Given the description of an element on the screen output the (x, y) to click on. 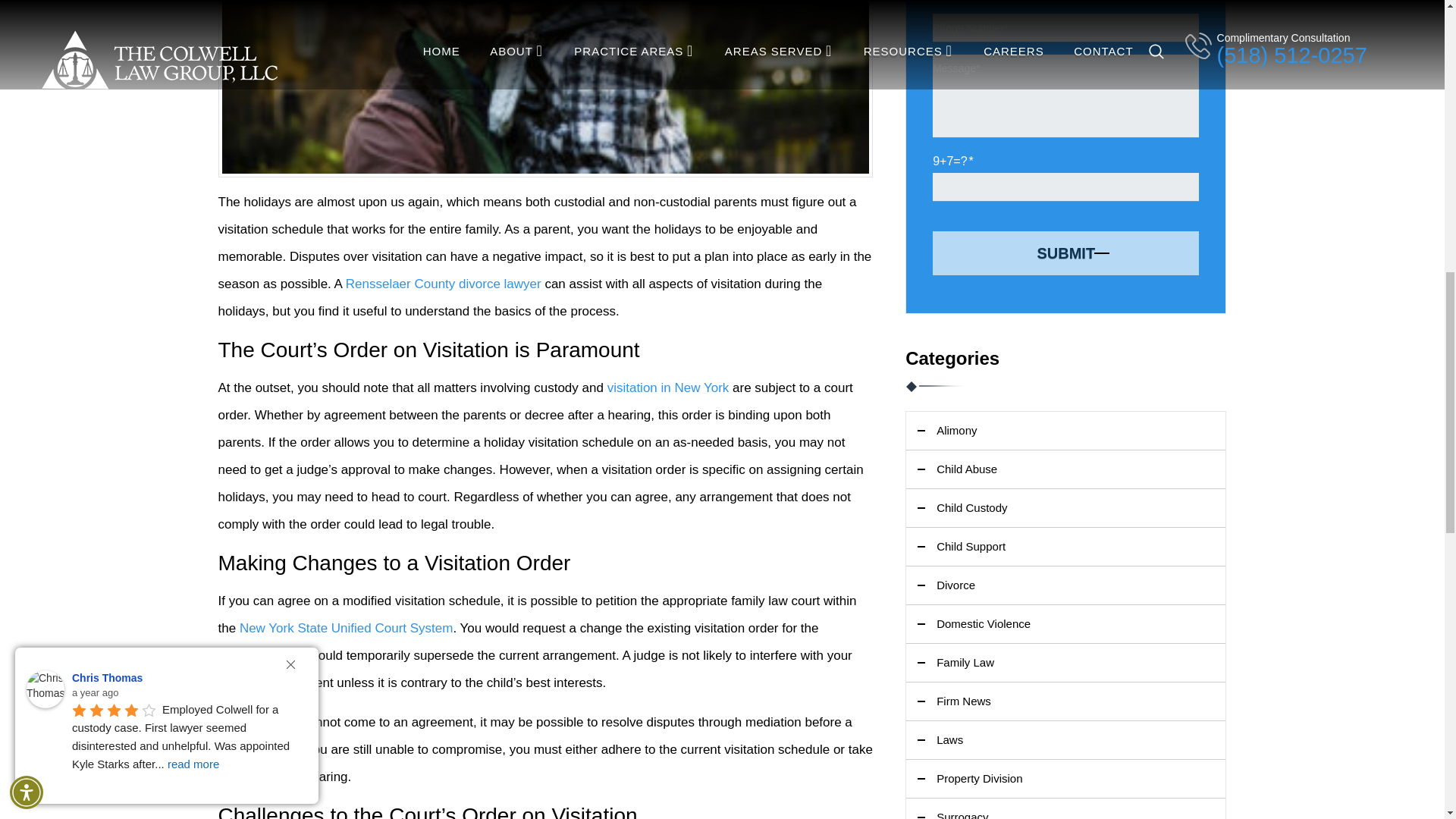
Visitation During Holidays (545, 88)
Submit (1065, 252)
